Given the description of an element on the screen output the (x, y) to click on. 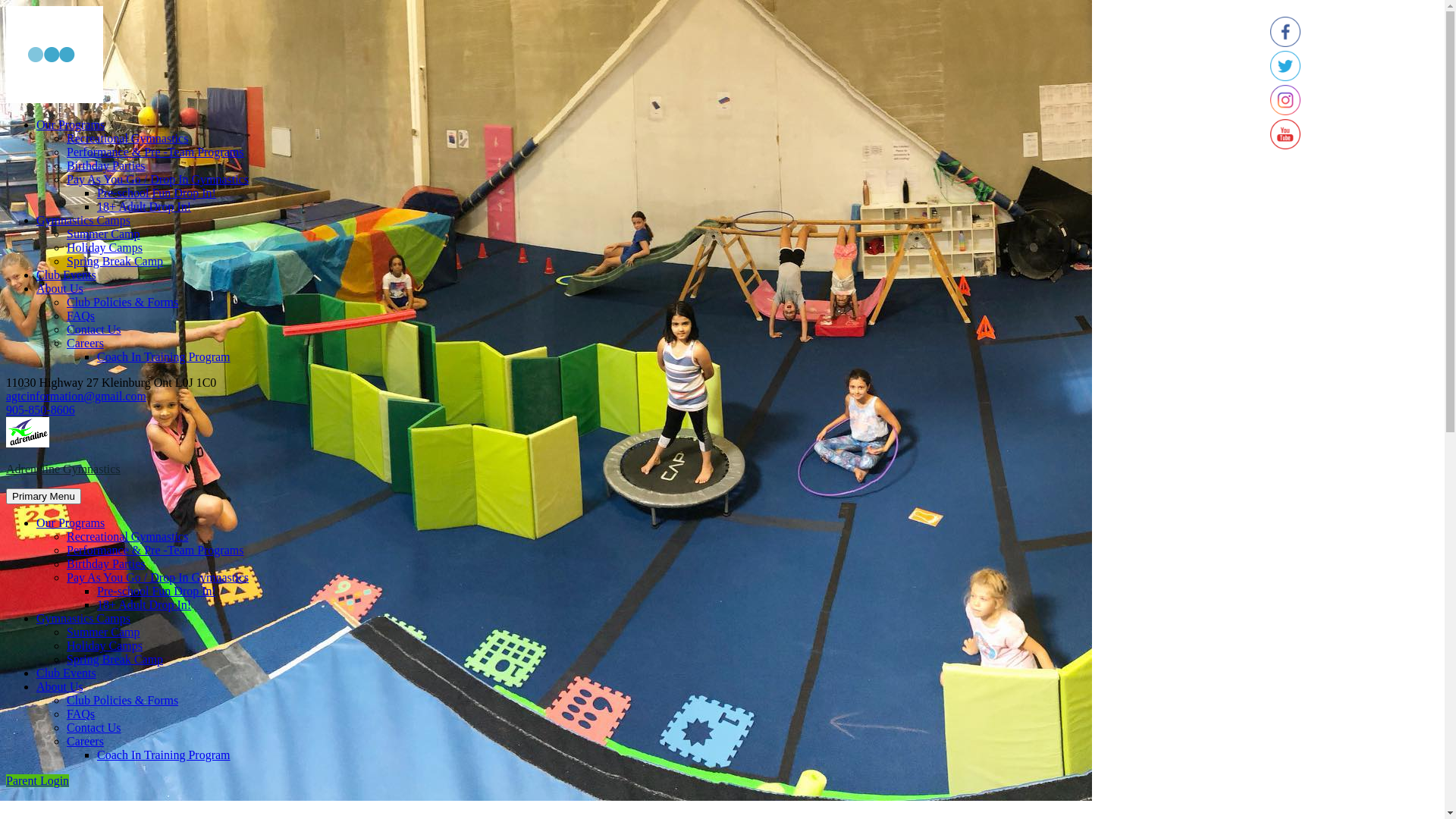
Summer Camp Element type: text (102, 631)
Club Policies & Forms Element type: text (122, 301)
18+ Adult Drop In! Element type: text (144, 604)
YouTube Element type: hover (1285, 134)
Coach In Training Program Element type: text (163, 754)
Our Programs Element type: text (70, 124)
Pre-school Fun Drop In! Element type: text (156, 192)
FAQs Element type: text (80, 315)
Coach In Training Program Element type: text (163, 356)
About Us Element type: text (59, 288)
Our Programs Element type: text (70, 522)
Pay As You Go / Drop In Gymnastics Element type: text (157, 178)
About Us Element type: text (59, 686)
Twitter Element type: hover (1285, 65)
Club Events Element type: text (66, 672)
Pay As You Go / Drop In Gymnastics Element type: text (157, 577)
Spring Break Camp Element type: text (114, 260)
Gymnastics Camps Element type: text (83, 219)
905-850-8606 Element type: text (40, 409)
Skip to content Element type: text (5, 117)
Birthday Parties Element type: text (105, 563)
Performance & Pre -Team Programs Element type: text (154, 151)
Spring Break Camp Element type: text (114, 658)
Performance & Pre -Team Programs Element type: text (154, 549)
Contact Us Element type: text (93, 329)
Birthday Parties Element type: text (105, 165)
Contact Us Element type: text (93, 727)
Pre-school Fun Drop In! Element type: text (156, 590)
Club Events Element type: text (66, 274)
Careers Element type: text (84, 740)
agtcinformation@gmail.com Element type: text (76, 395)
18+ Adult Drop In! Element type: text (144, 206)
Summer Camp Element type: text (102, 233)
Primary Menu Element type: text (43, 496)
Recreational Gymnastics Element type: text (127, 137)
Club Policies & Forms Element type: text (122, 699)
Careers Element type: text (84, 342)
Instagram Element type: hover (1285, 99)
Recreational Gymnastics Element type: text (127, 536)
Parent Login Element type: text (37, 780)
Holiday Camps Element type: text (104, 645)
Adrenaline Gymnastics Element type: text (63, 468)
Facebook Element type: hover (1285, 31)
FAQs Element type: text (80, 713)
Gymnastics Camps Element type: text (83, 617)
Holiday Camps Element type: text (104, 247)
